Given the description of an element on the screen output the (x, y) to click on. 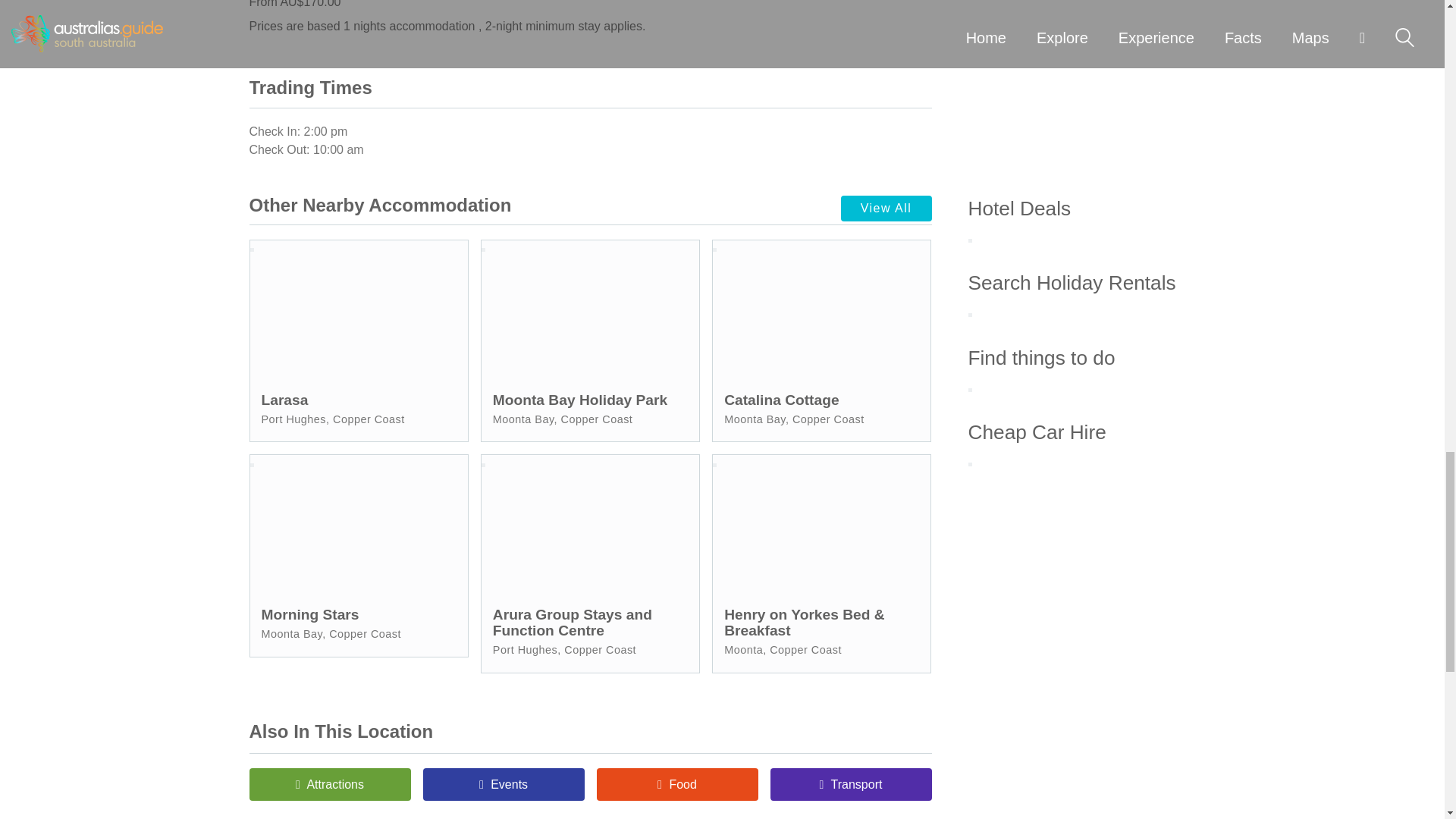
View All (885, 208)
